Given the description of an element on the screen output the (x, y) to click on. 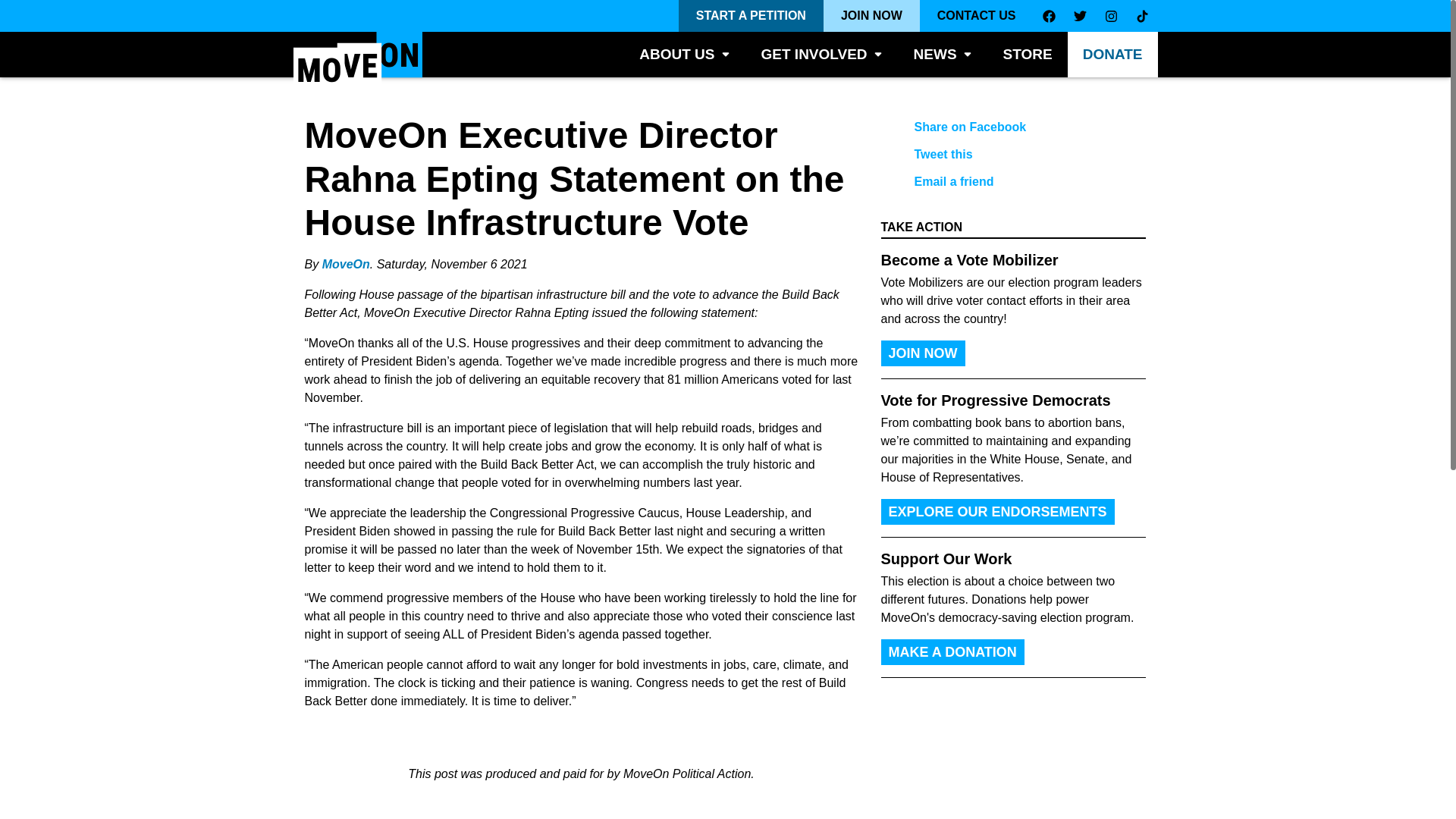
START A PETITION (751, 15)
Tweet this (1001, 154)
CONTACT US (976, 15)
JOIN NOW (872, 15)
DONATE (1112, 53)
Email a friend (1001, 181)
Posts by MoveOn (345, 264)
EXPLORE OUR ENDORSEMENTS (997, 511)
Share on Facebook (1001, 126)
STORE (1027, 53)
